Given the description of an element on the screen output the (x, y) to click on. 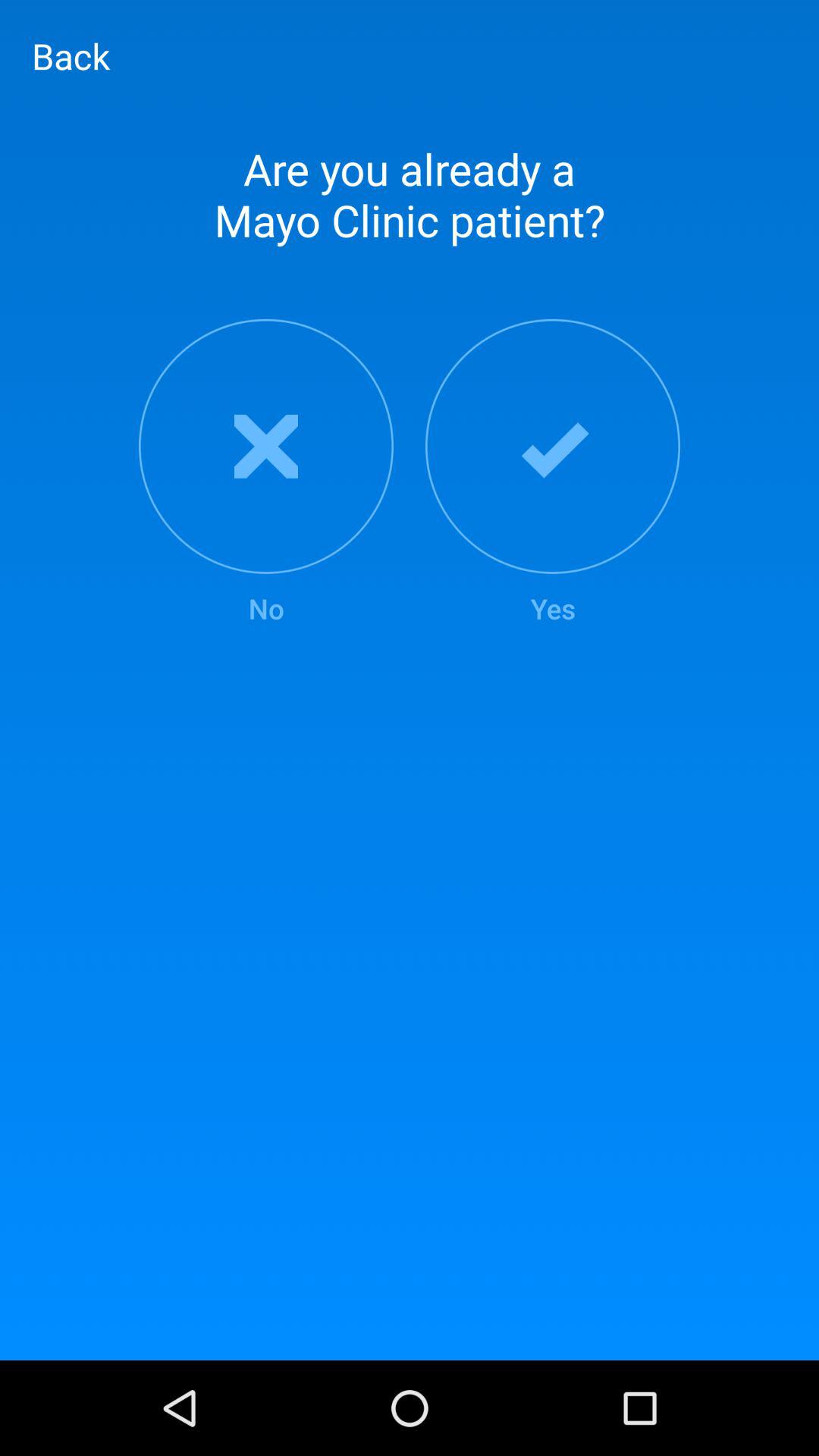
open the item below the are you already (265, 473)
